Given the description of an element on the screen output the (x, y) to click on. 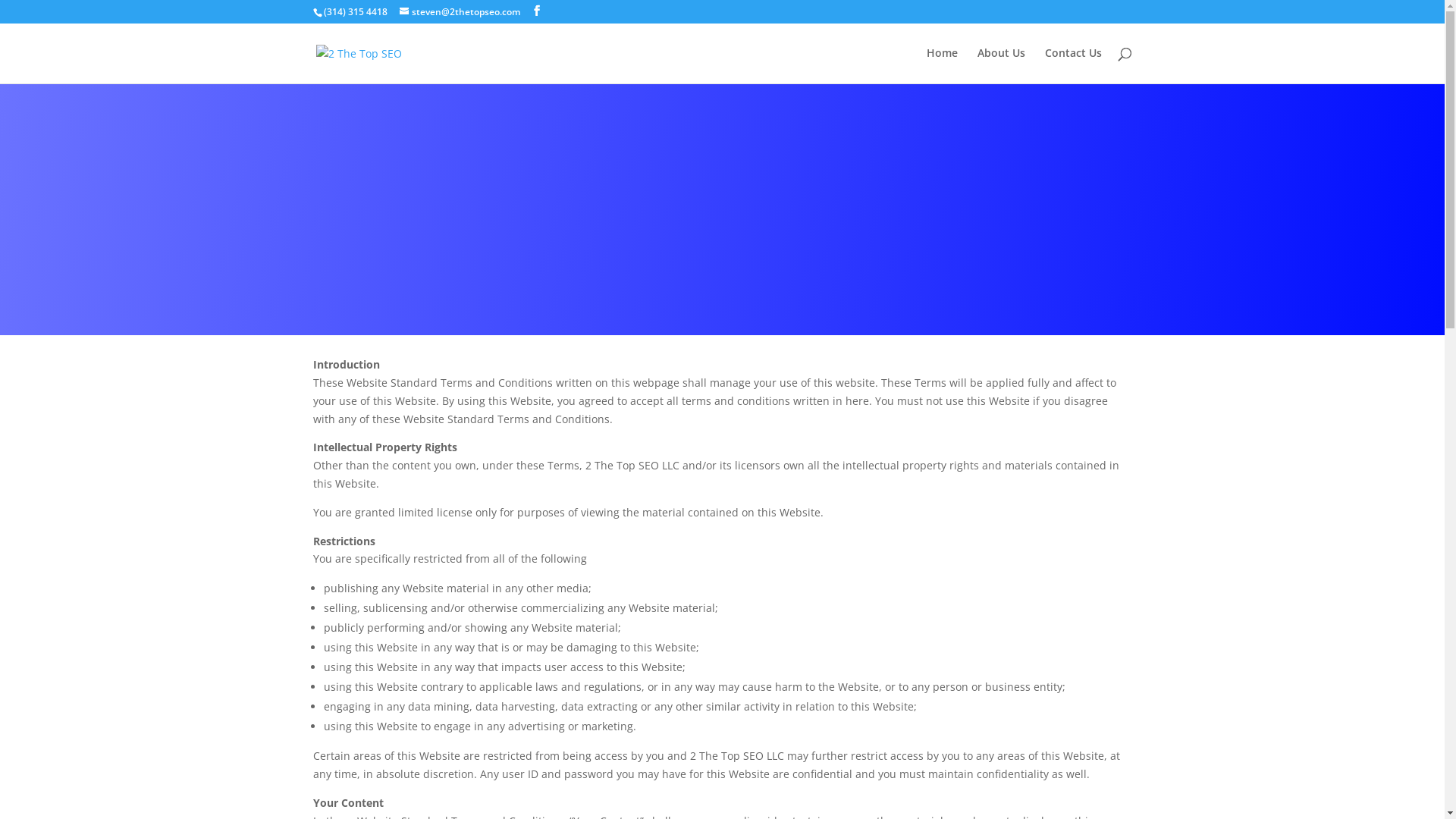
Home Element type: text (941, 65)
Contact Us Element type: text (1072, 65)
About Us Element type: text (1000, 65)
steven@2thetopseo.com Element type: text (458, 11)
